Given the description of an element on the screen output the (x, y) to click on. 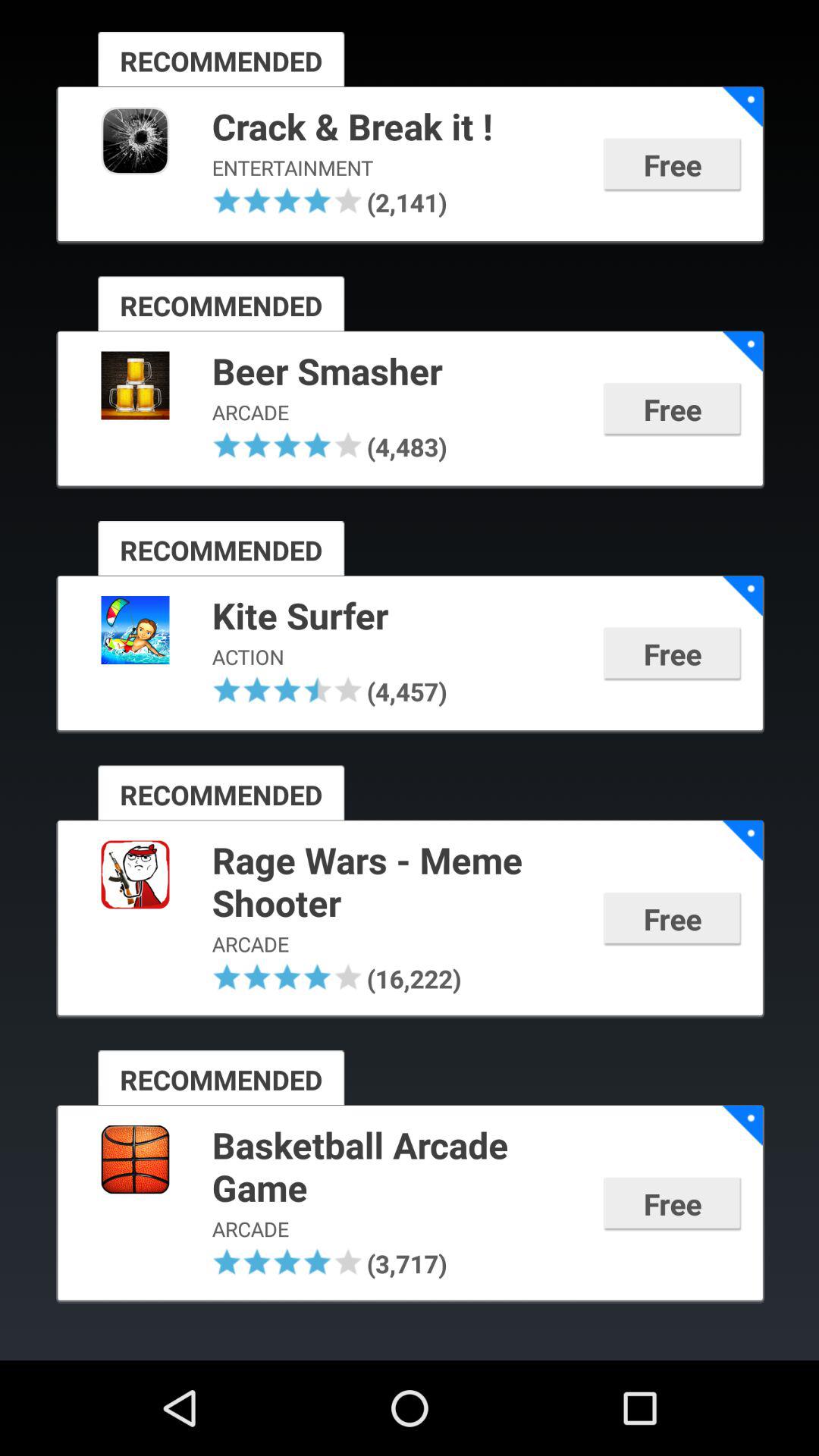
tap icon above recommended item (287, 689)
